Given the description of an element on the screen output the (x, y) to click on. 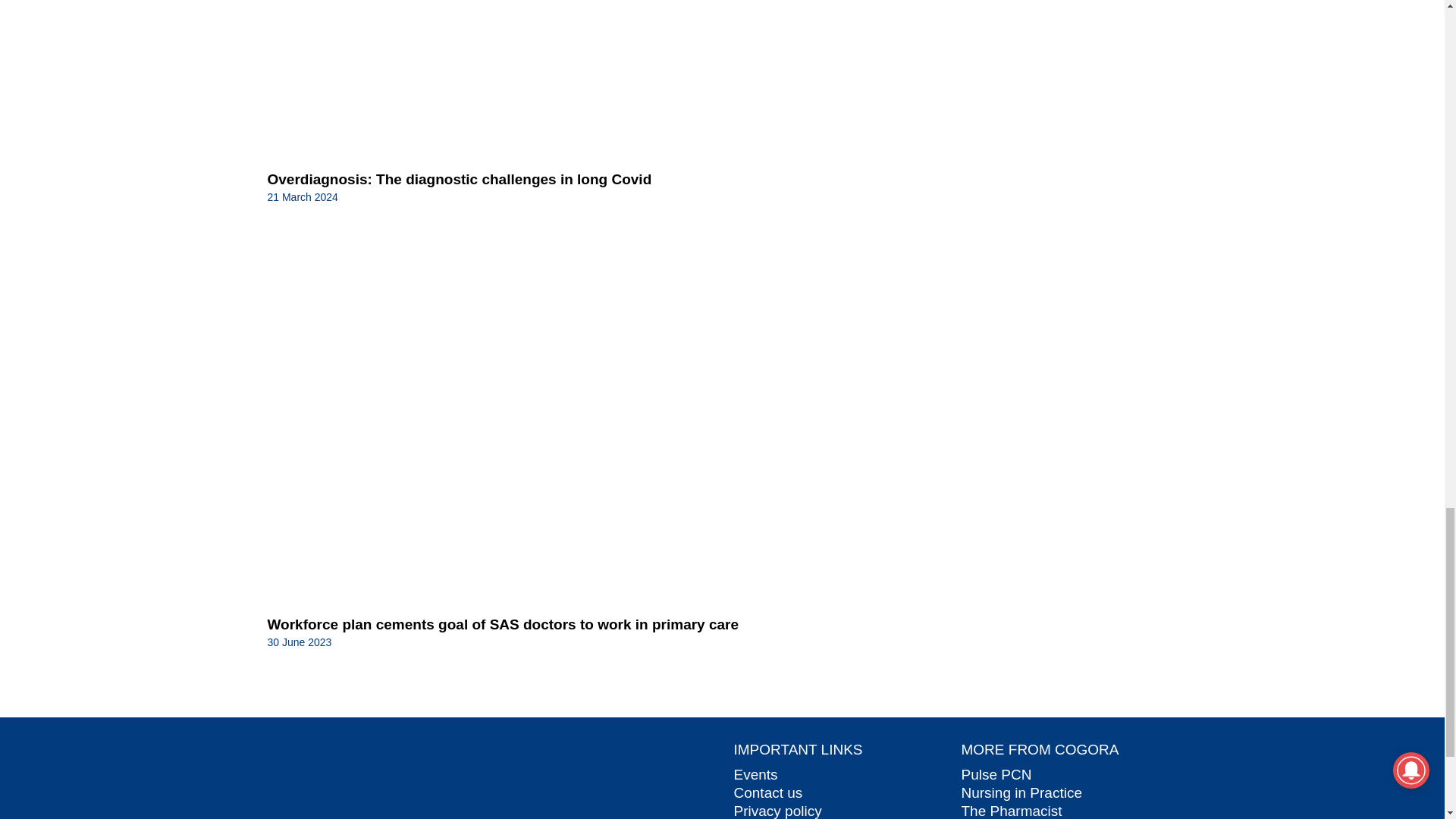
Events (755, 774)
Contact us (768, 792)
Privacy policy (777, 811)
